Given the description of an element on the screen output the (x, y) to click on. 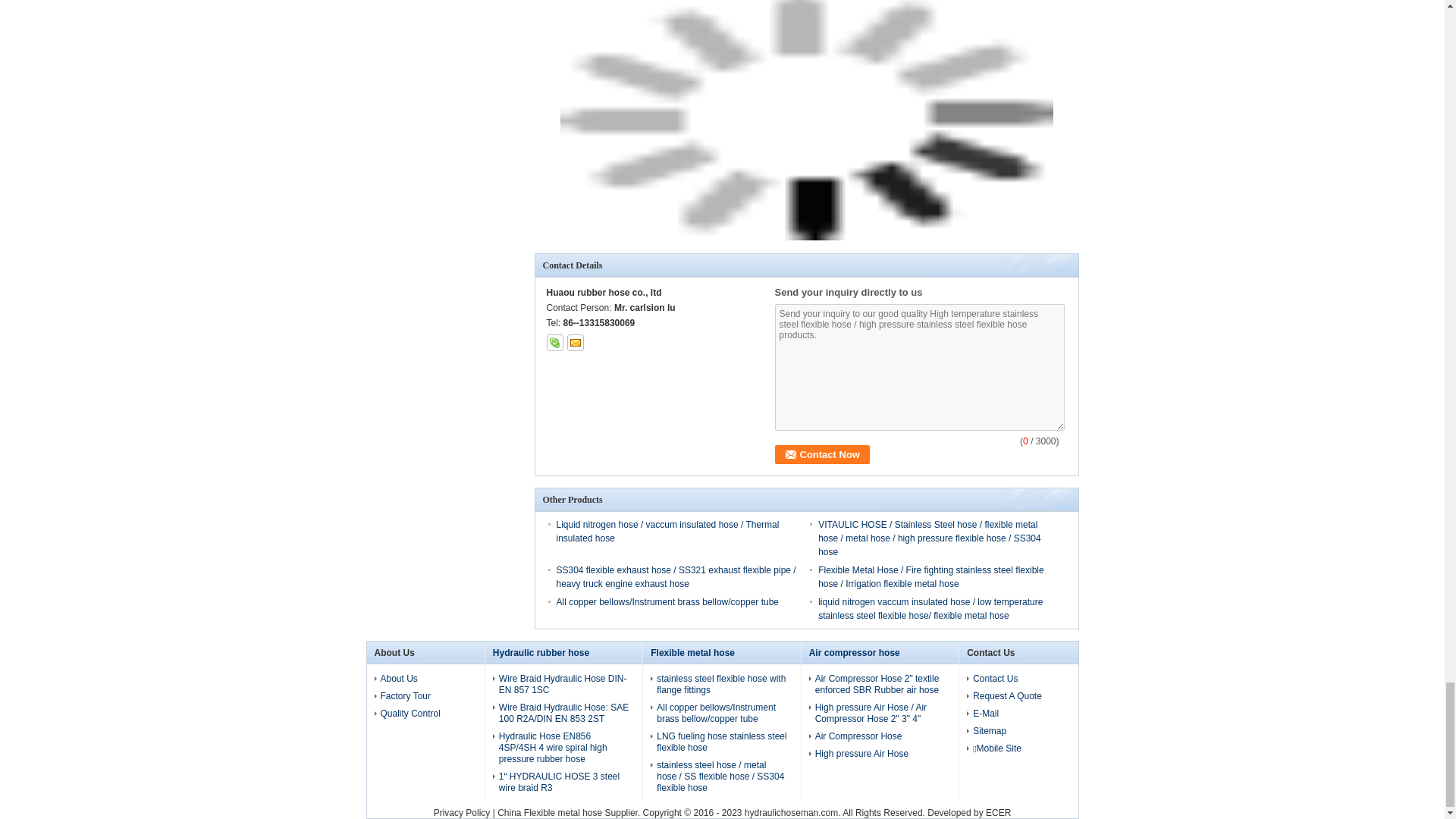
Contact Now (821, 454)
